Given the description of an element on the screen output the (x, y) to click on. 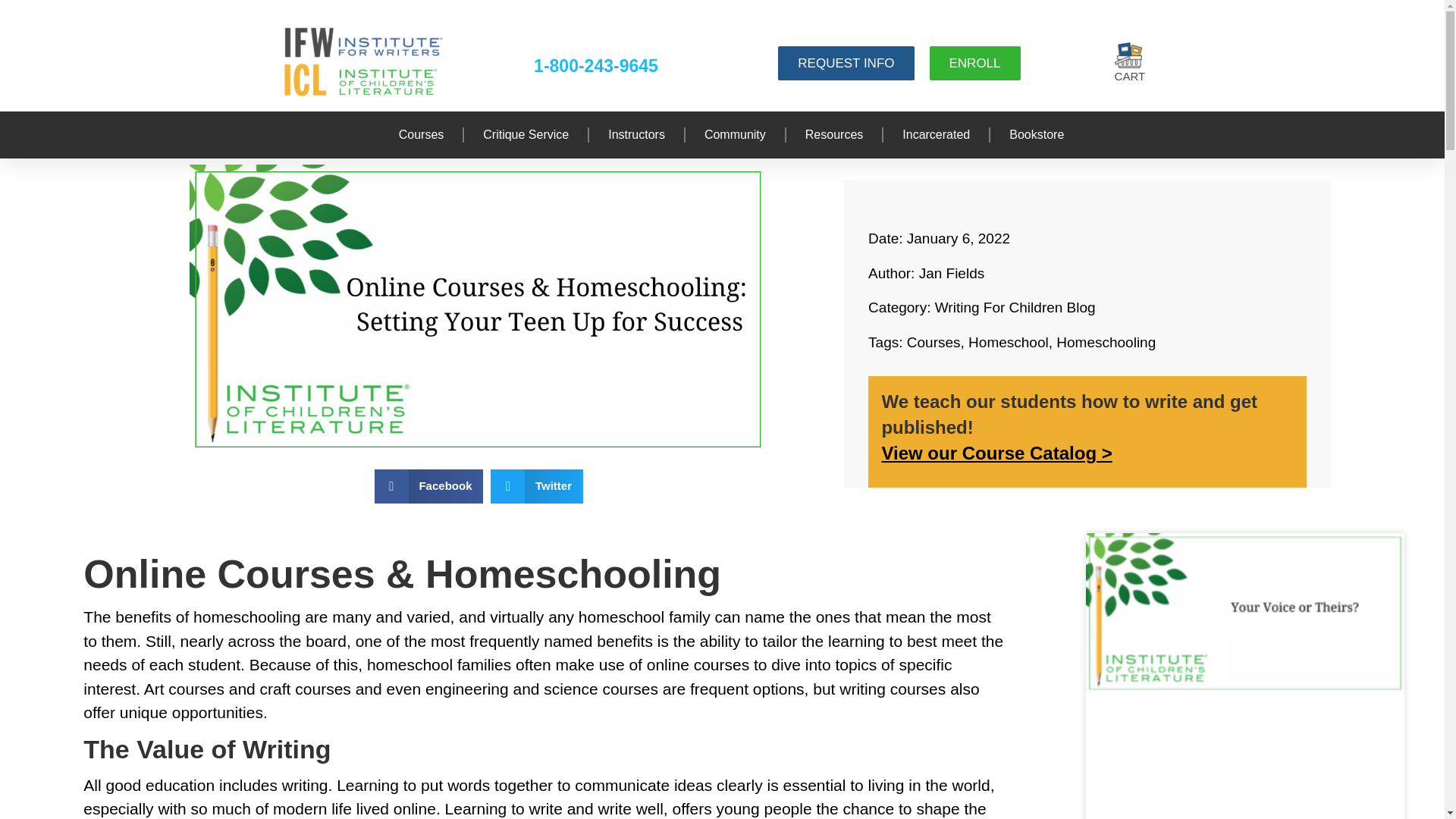
1-800-243-9645 (596, 66)
REQUEST INFO (845, 62)
Critique Service (526, 134)
Resources (834, 134)
Instructors (636, 134)
ENROLL (975, 62)
Community (734, 134)
Courses (421, 134)
